Given the description of an element on the screen output the (x, y) to click on. 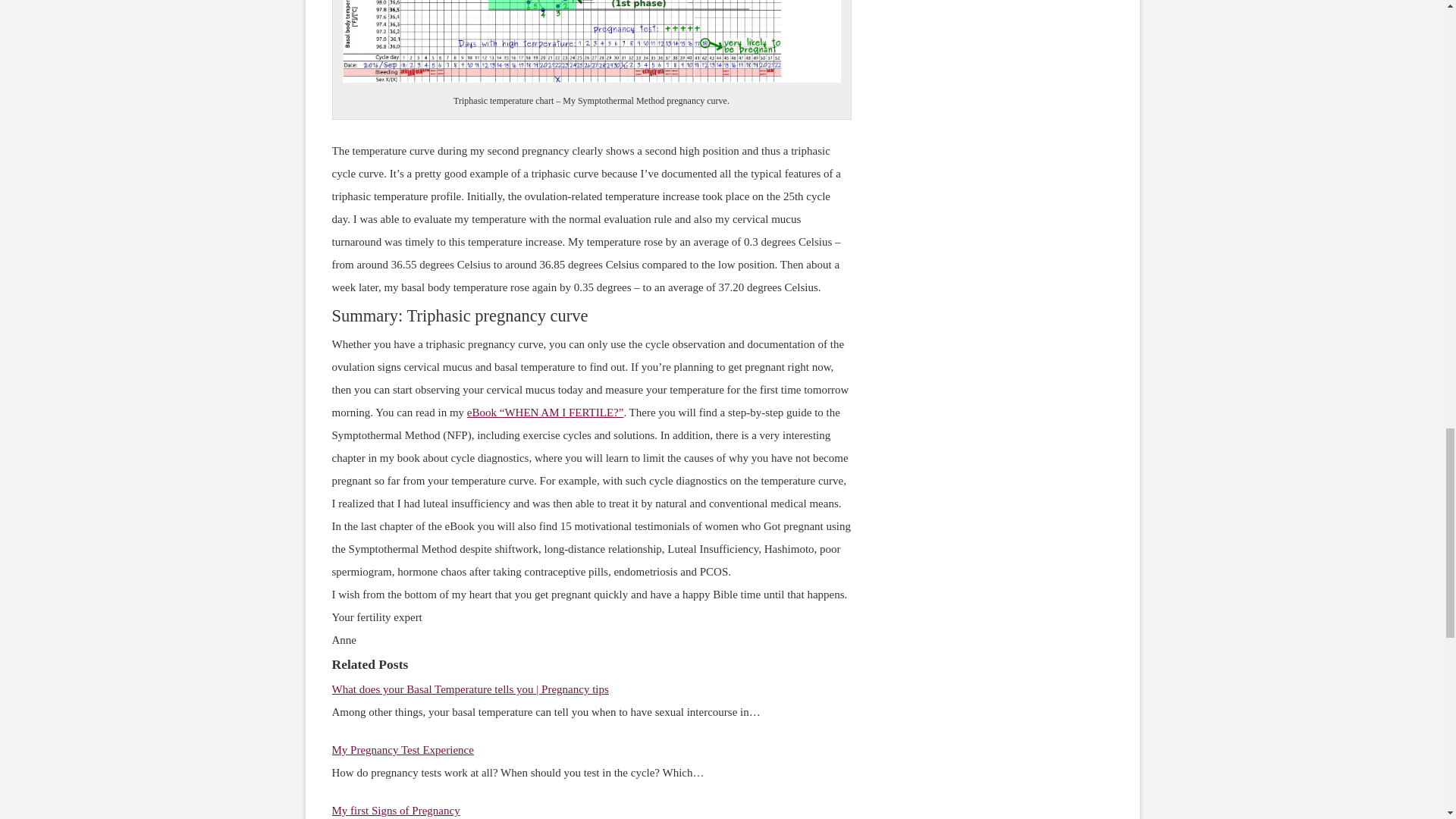
My first Signs of Pregnancy (395, 810)
My Pregnancy Test Experience (402, 749)
